Given the description of an element on the screen output the (x, y) to click on. 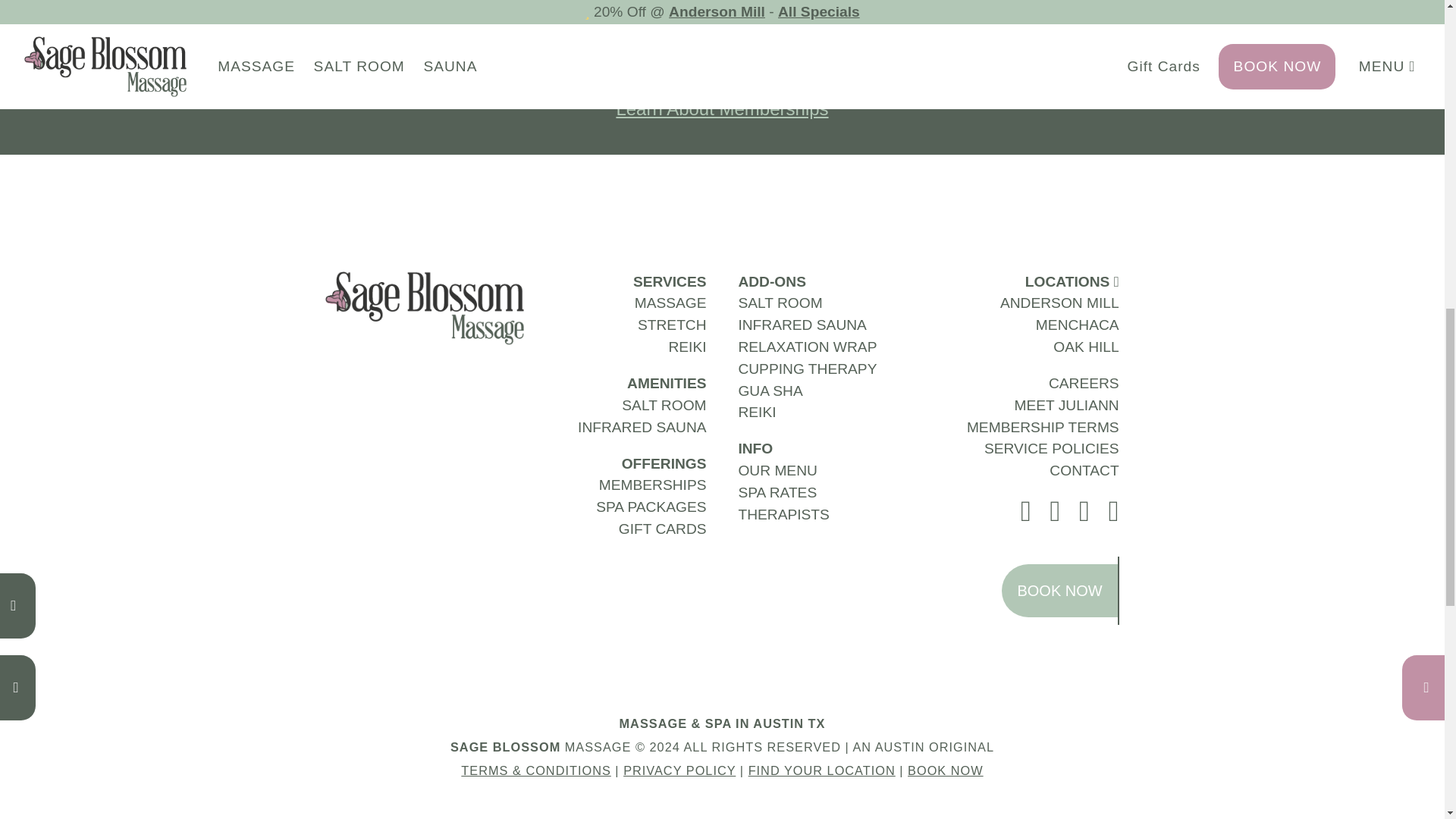
RELAXATION WRAP (807, 346)
GUA SHA (770, 390)
SERVICE POLICIES (1051, 448)
OAK HILL (1085, 346)
Learn About Memberships (721, 108)
MASSAGE (670, 302)
CUPPING THERAPY (807, 368)
MEET JULIANN (1065, 405)
BOOK NOW (720, 50)
SPA RATES (777, 492)
STRETCH (671, 324)
OUR MENU (777, 470)
CONTACT (1083, 470)
GIFT CARDS (662, 528)
INFRARED SAUNA (802, 324)
